Given the description of an element on the screen output the (x, y) to click on. 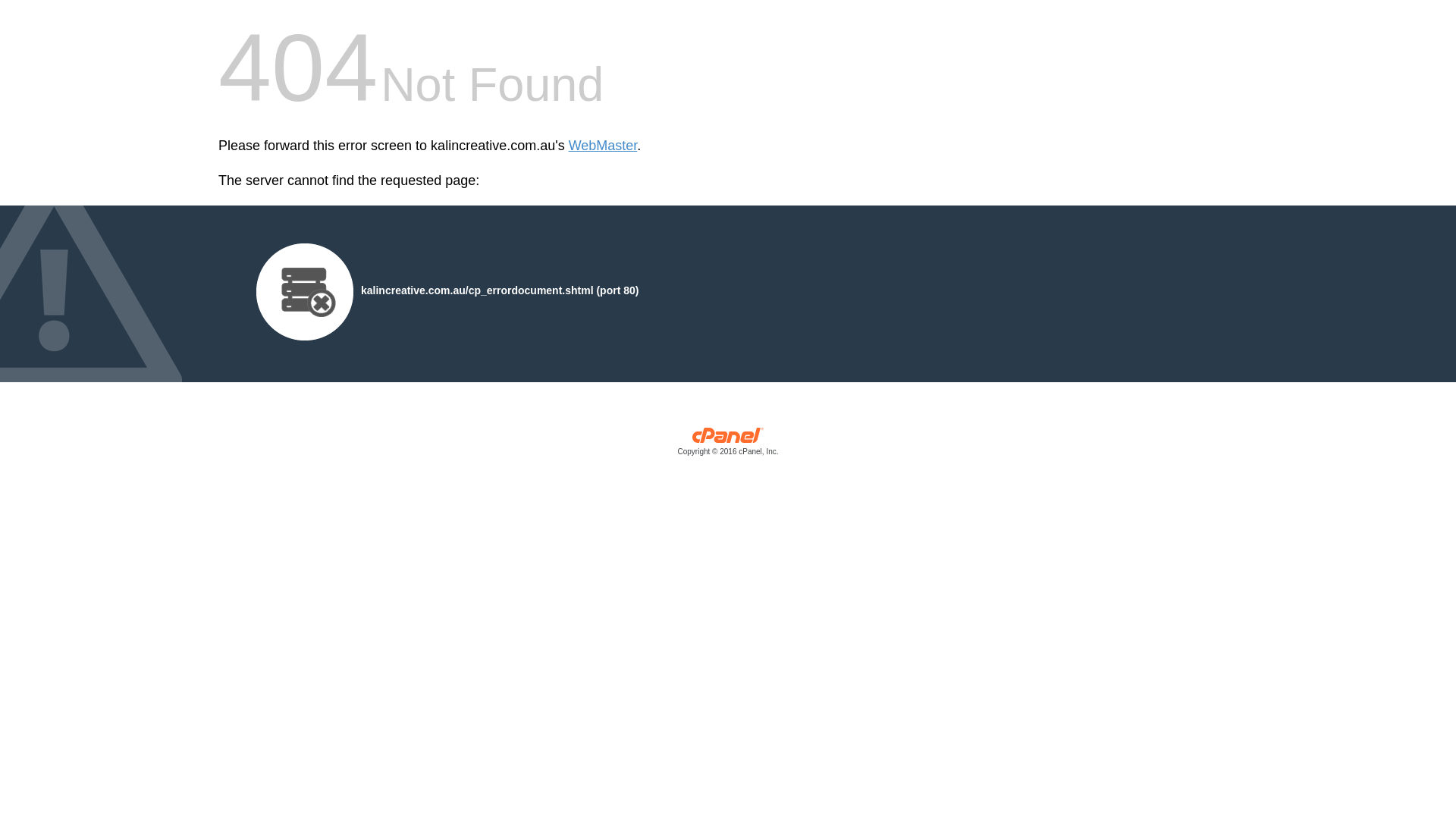
WebMaster Element type: text (602, 145)
